Given the description of an element on the screen output the (x, y) to click on. 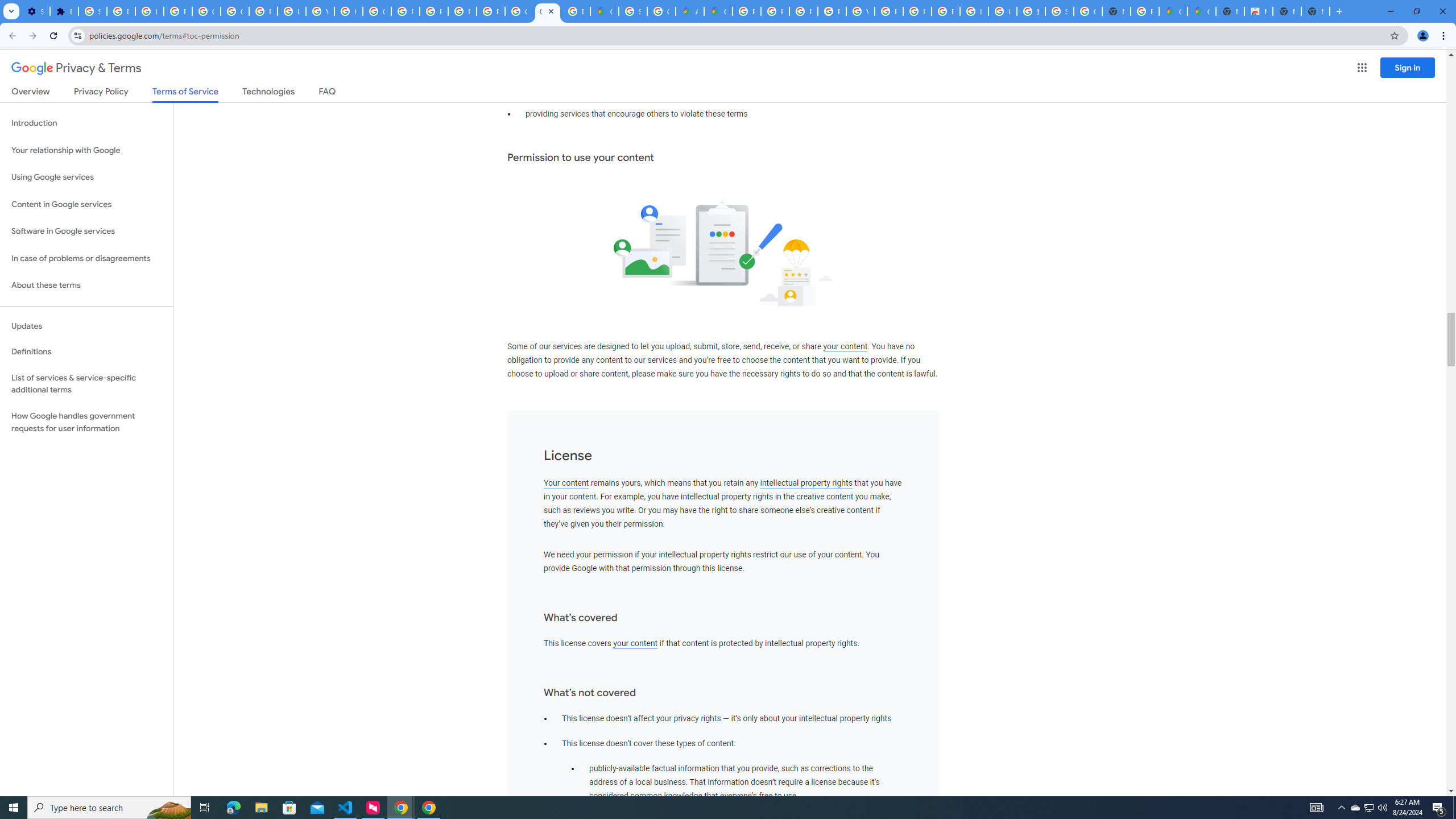
Using Google services (86, 176)
https://scholar.google.com/ (348, 11)
Learn how to find your photos - Google Photos Help (148, 11)
Explore new street-level details - Google Maps Help (1144, 11)
intellectual property rights (806, 482)
your content (635, 643)
New Tab (1338, 11)
Policy Accountability and Transparency - Transparency Center (746, 11)
Introduction (86, 122)
Minimize (1390, 11)
